Given the description of an element on the screen output the (x, y) to click on. 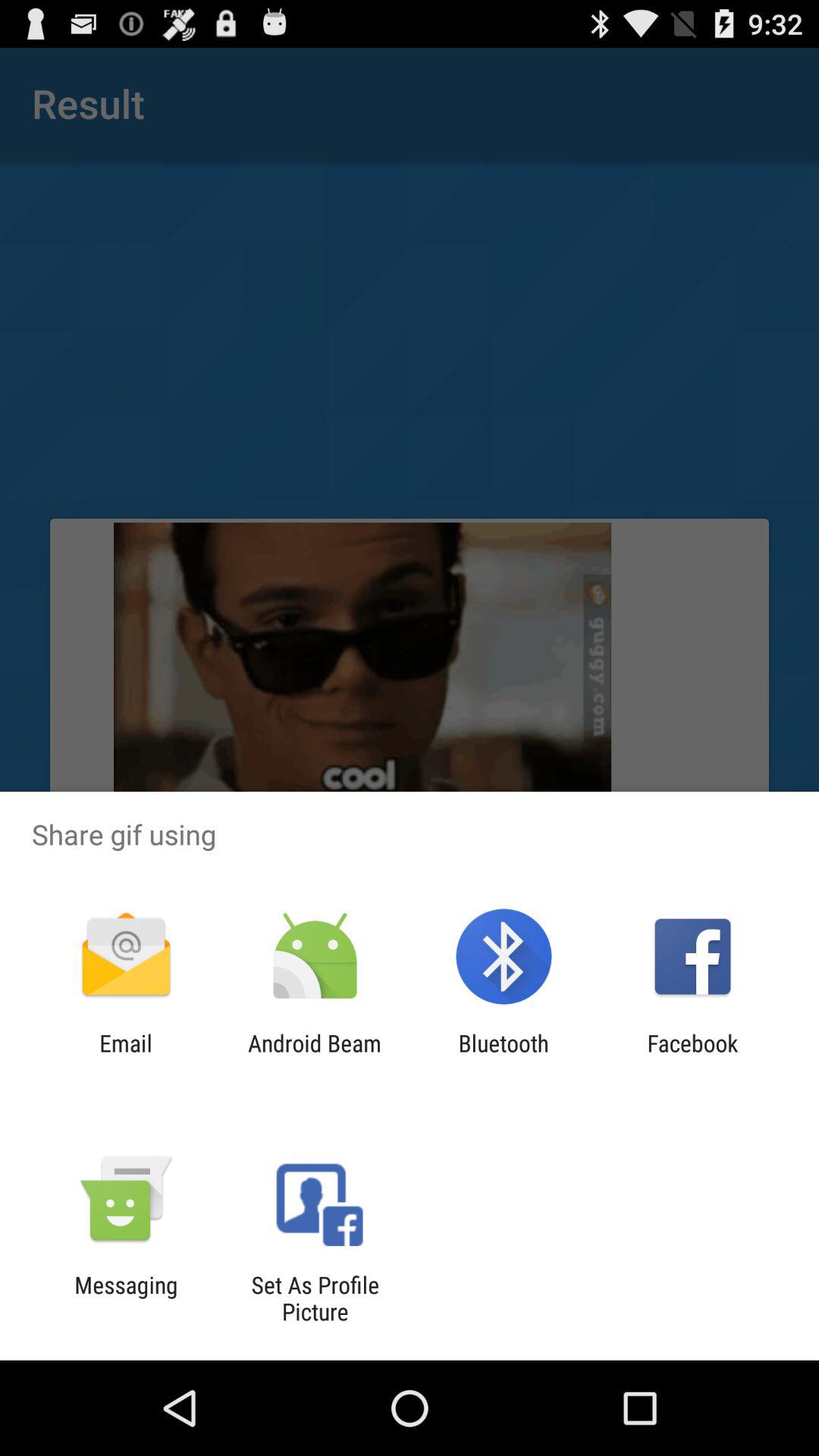
launch the set as profile app (314, 1298)
